Given the description of an element on the screen output the (x, y) to click on. 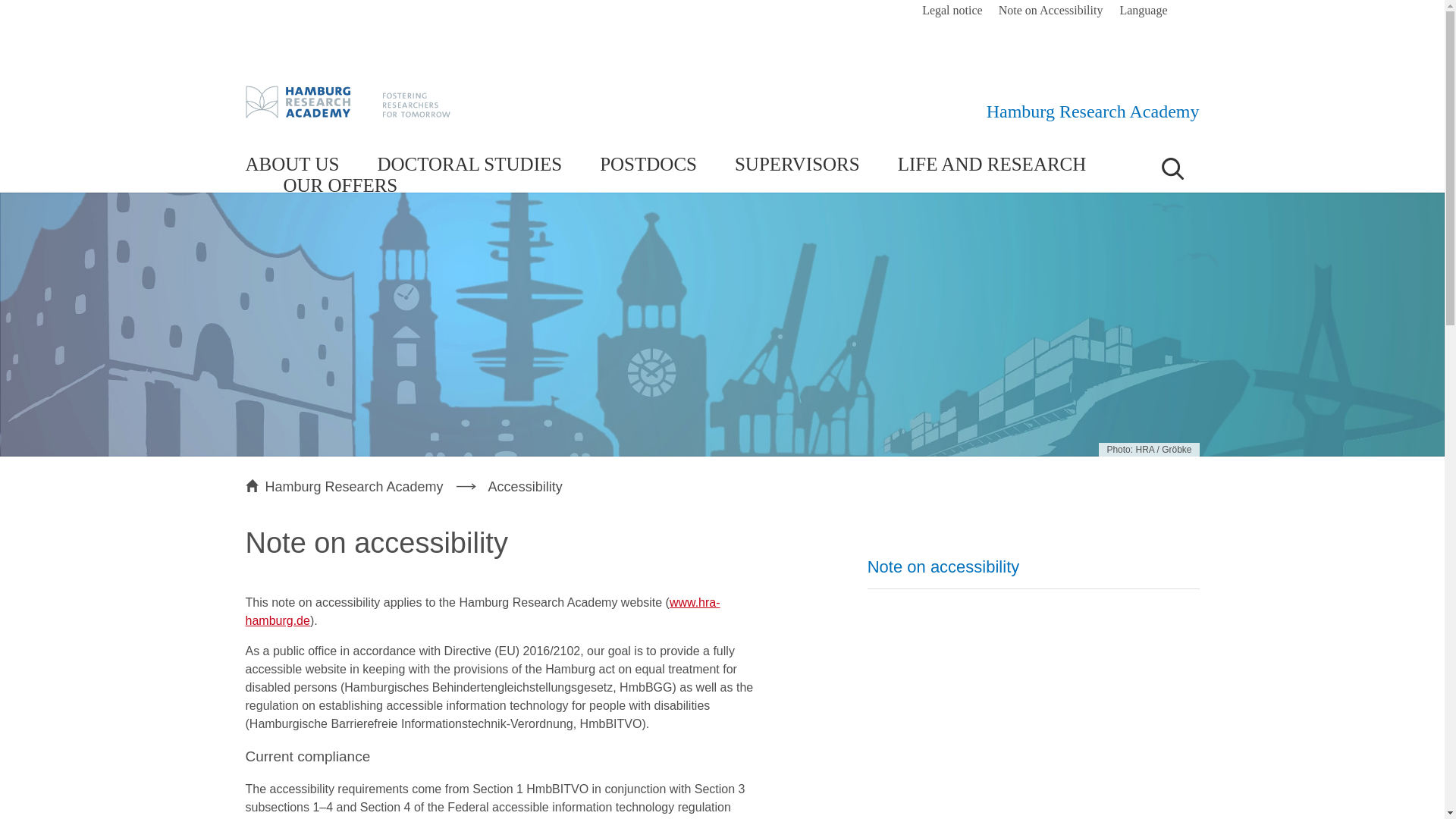
Legal notice (951, 11)
POSTDOCS (648, 164)
ABOUT US (292, 164)
DOCTORAL STUDIES (469, 164)
Hamburg Research Academy (1093, 111)
SUPERVISORS (797, 164)
LIFE AND RESEARCH (992, 164)
Note on Accessibility (1050, 11)
Language (1150, 11)
Page logo: Home (1093, 111)
